Given the description of an element on the screen output the (x, y) to click on. 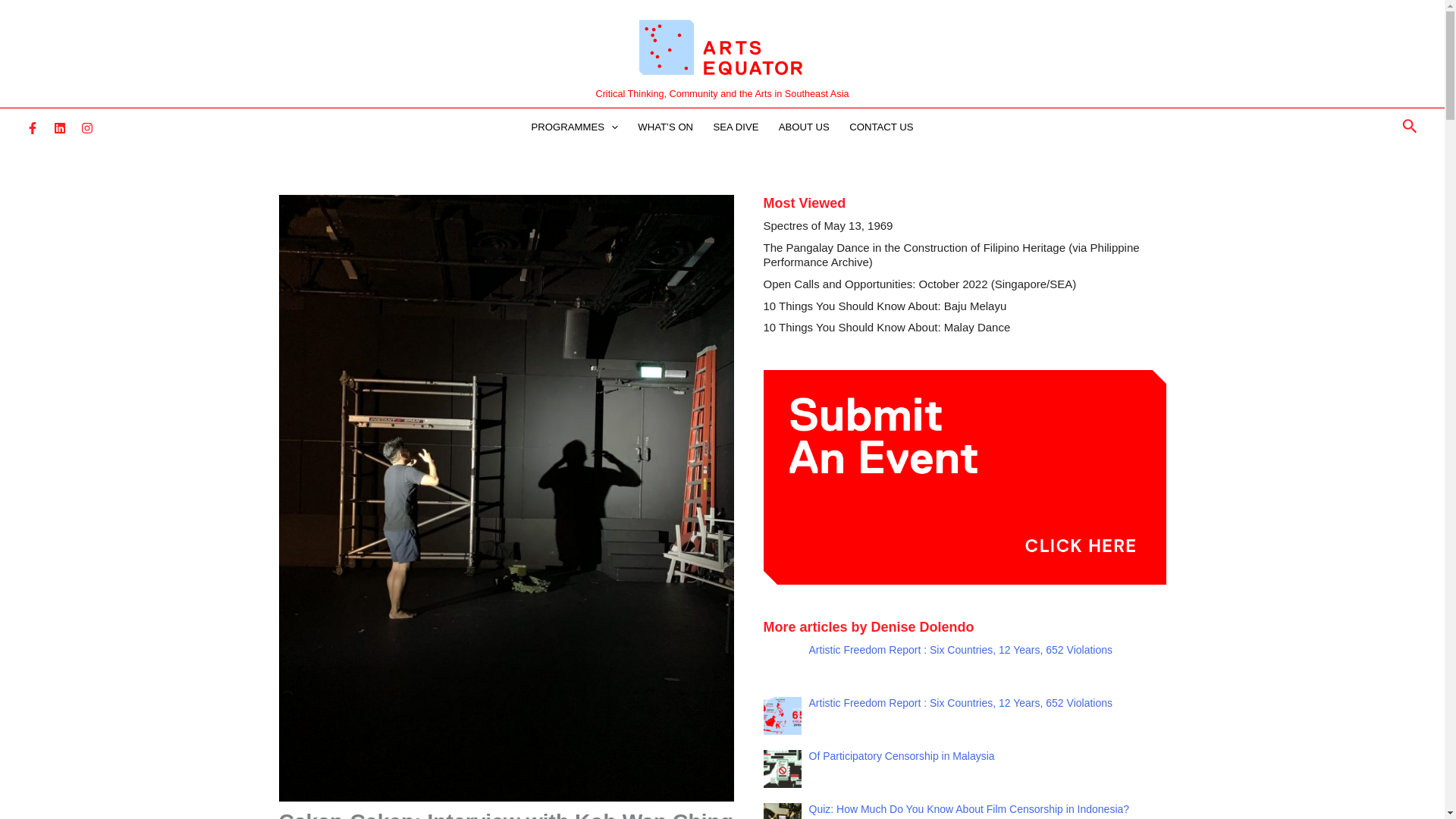
CONTACT US (881, 127)
SEA DIVE (735, 127)
ABOUT US (804, 127)
PROGRAMMES (574, 127)
